Given the description of an element on the screen output the (x, y) to click on. 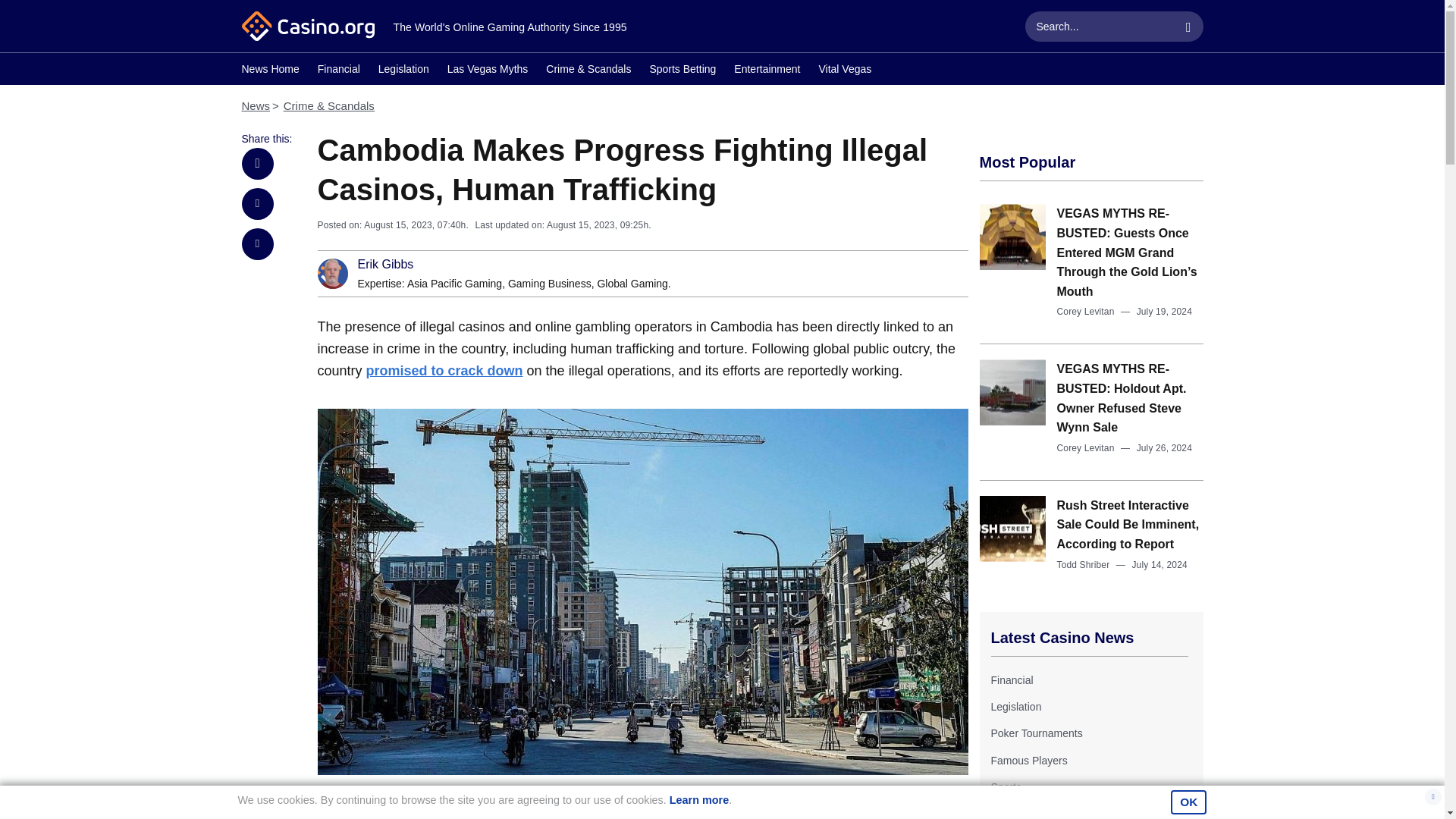
Gaming Business (549, 283)
promised to crack down (444, 370)
Mobile Gaming (1025, 813)
Sports (1005, 787)
Las Vegas Myths (487, 70)
Vital Vegas (845, 70)
Corey Levitan (1086, 311)
Poker Tournaments (1035, 733)
Legislation (403, 70)
Poker Tournaments (1035, 733)
Financial (1011, 680)
Global Gaming (631, 283)
Legislation (1015, 706)
Financial (1011, 680)
Financial (338, 70)
